Given the description of an element on the screen output the (x, y) to click on. 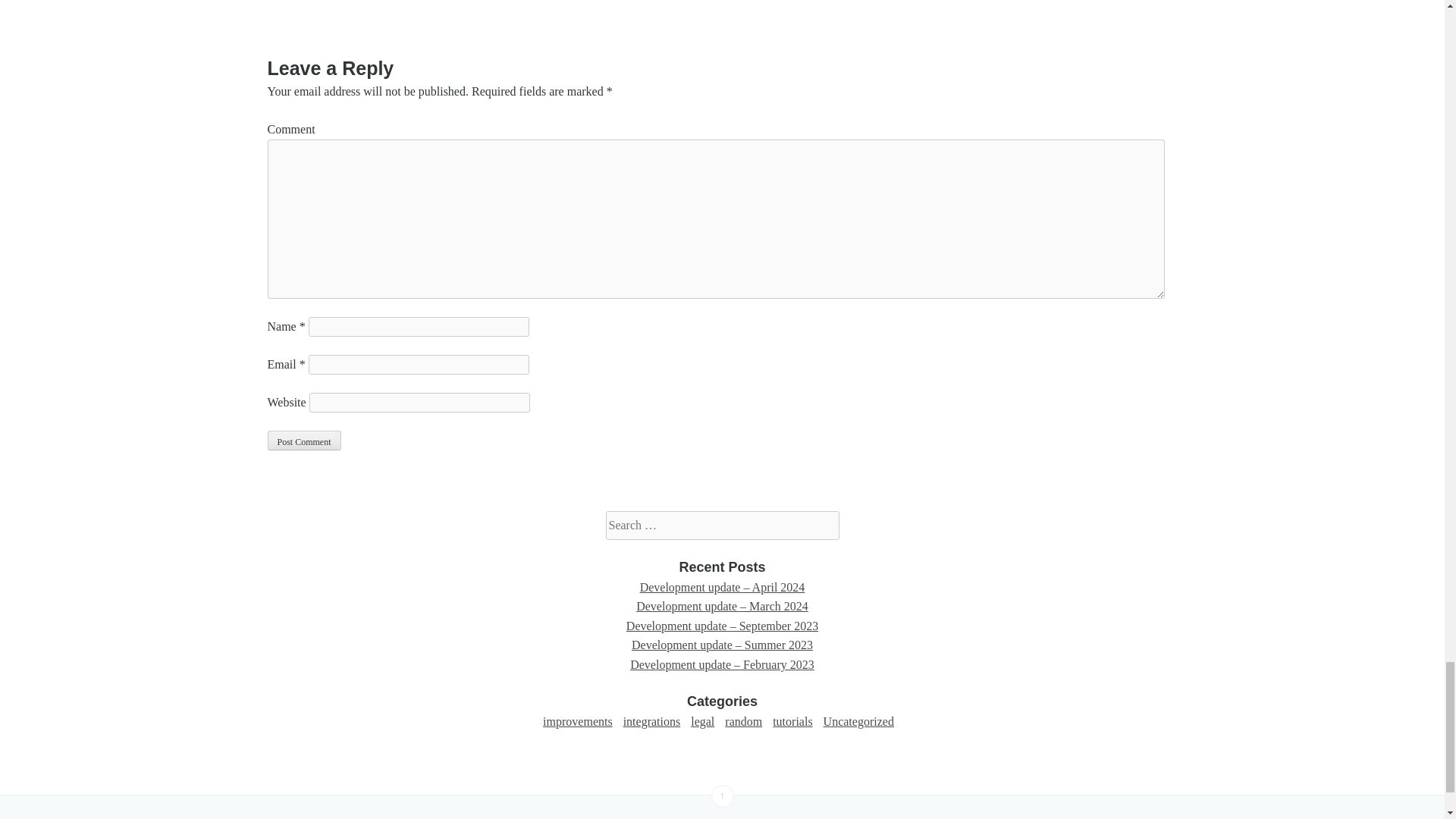
tutorials (792, 721)
legal (702, 721)
Post Comment (303, 440)
Post Comment (303, 440)
integrations (652, 721)
Uncategorized (858, 721)
random (743, 721)
improvements (577, 721)
